Given the description of an element on the screen output the (x, y) to click on. 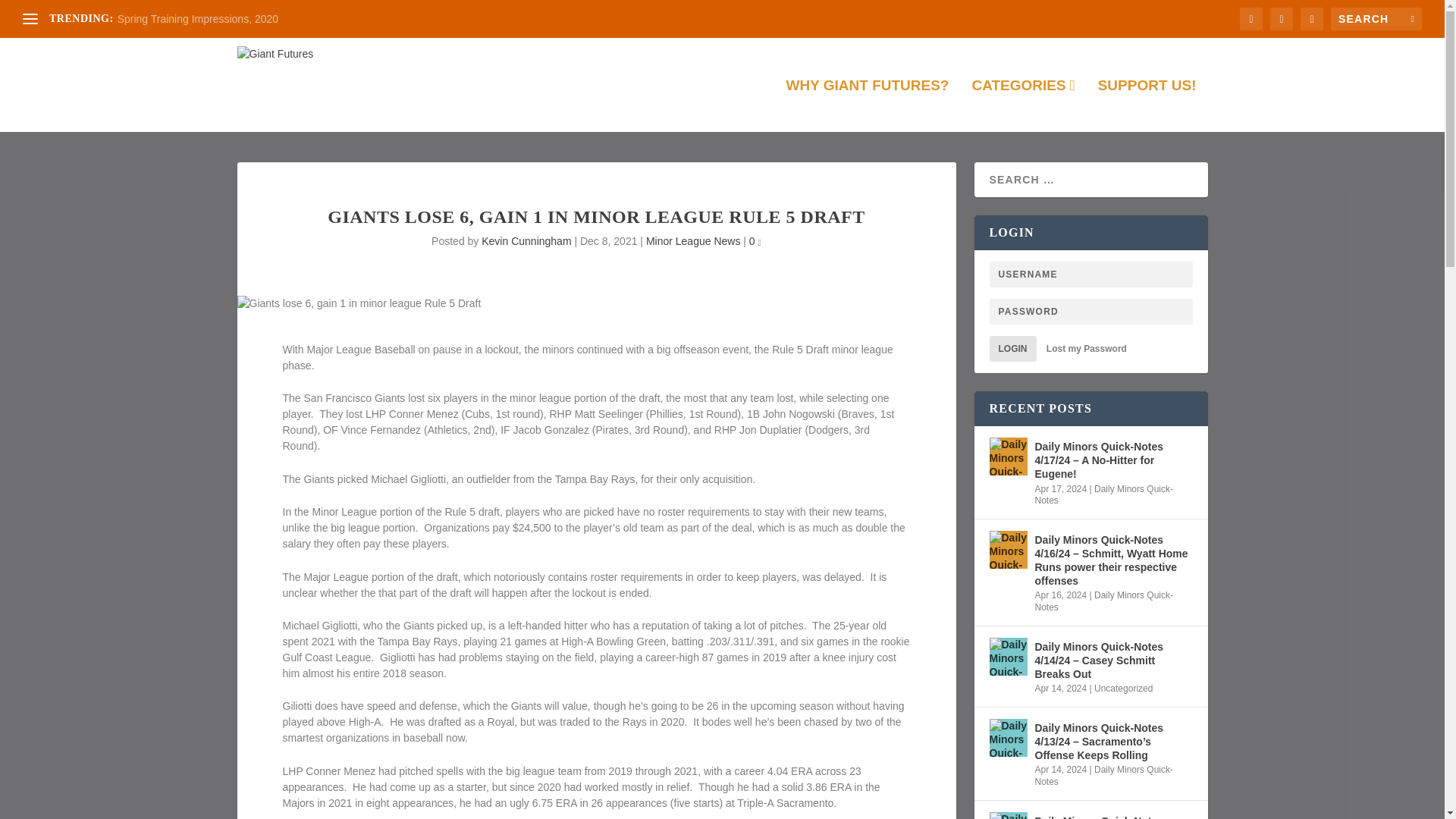
SUPPORT US! (1146, 105)
Minor League News (693, 241)
Lost my Password (1086, 348)
Search for: (1376, 18)
Kevin Cunningham (525, 241)
LOGIN (1011, 348)
0 (755, 241)
Search (31, 13)
CATEGORIES (1022, 105)
Posts by Kevin Cunningham (525, 241)
